Given the description of an element on the screen output the (x, y) to click on. 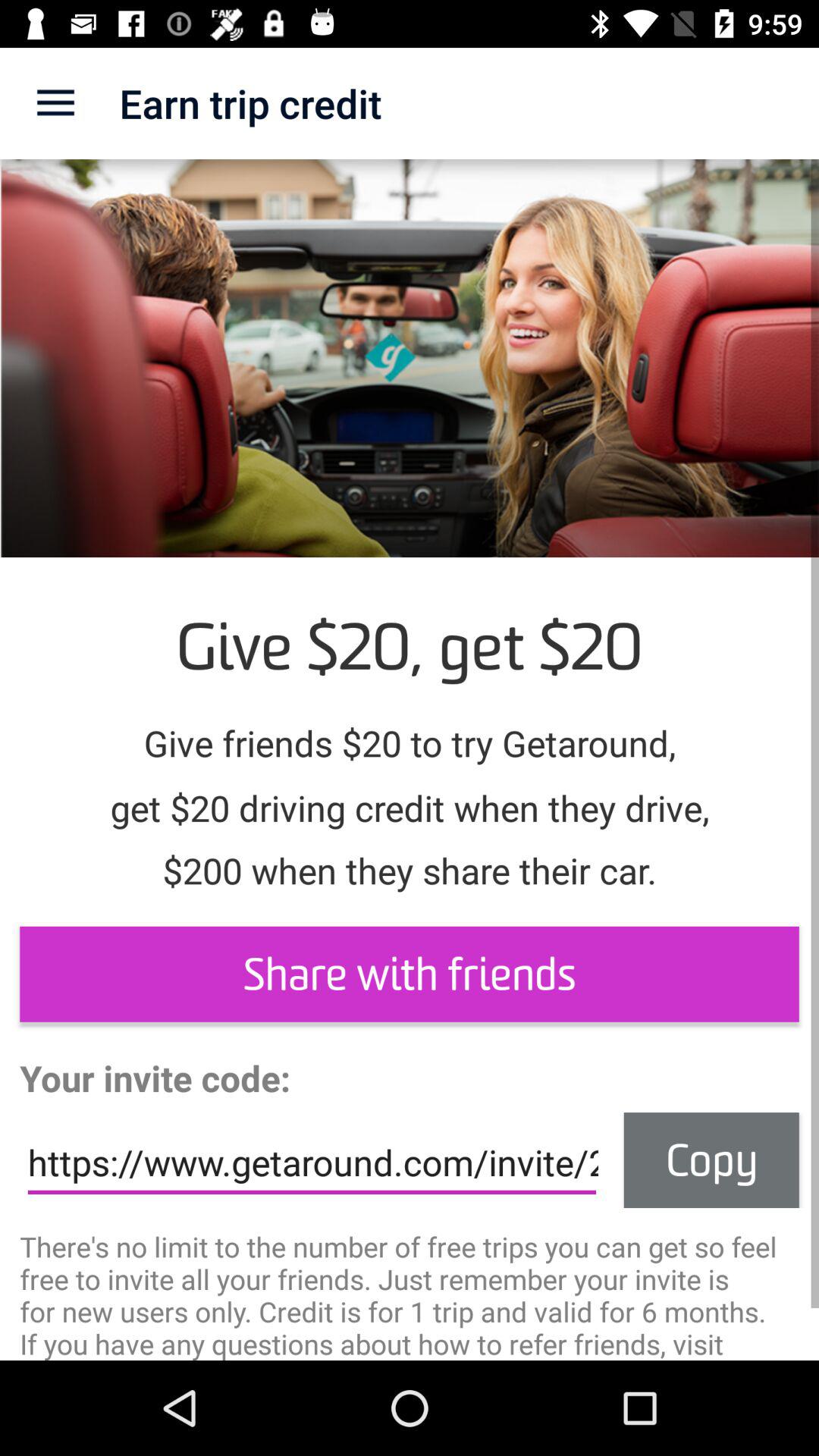
open item next to the https www getaround item (711, 1160)
